Given the description of an element on the screen output the (x, y) to click on. 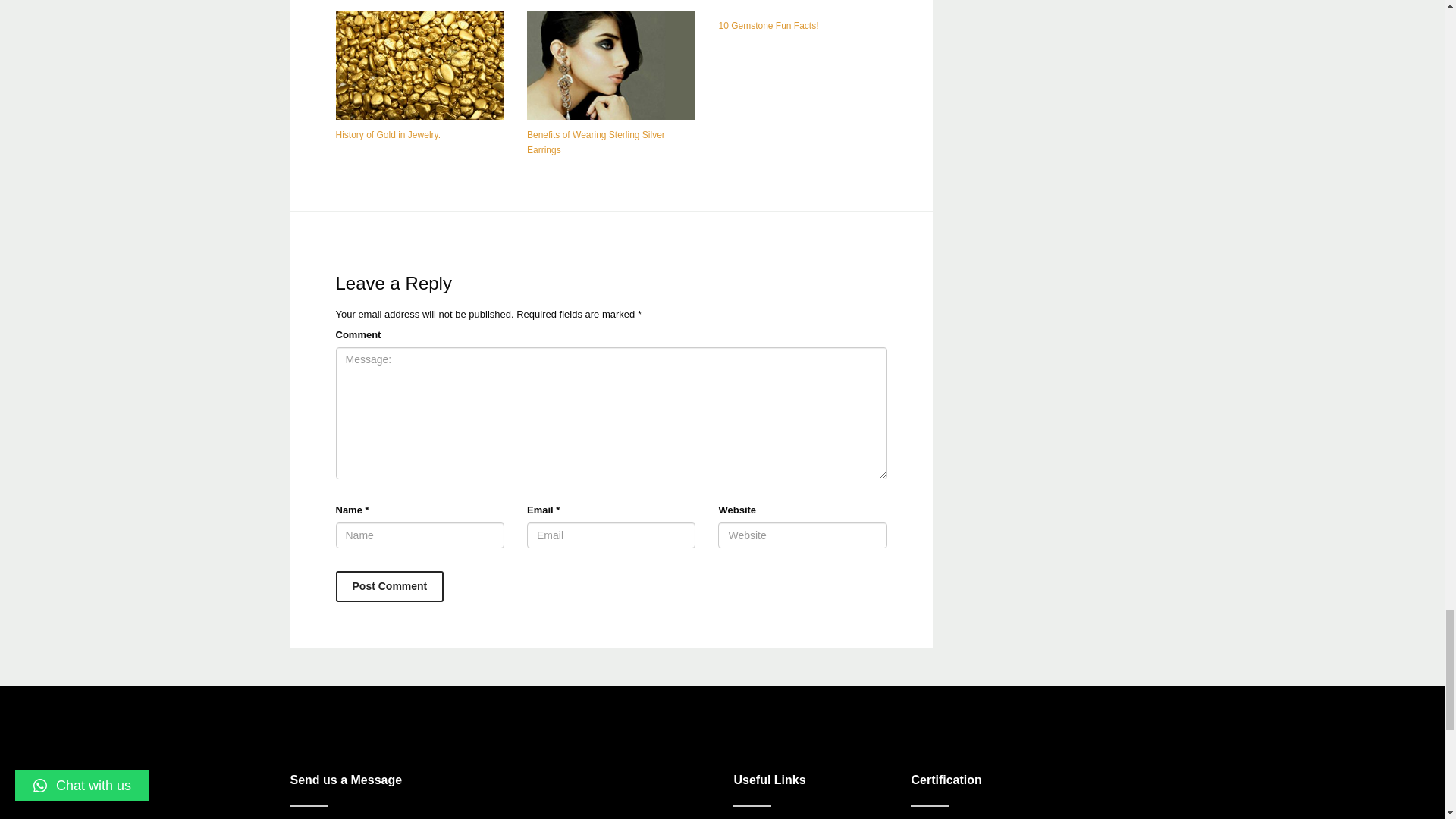
Post Comment (389, 585)
History of Gold in Jewelry. (387, 134)
Benefits of Wearing Sterling Silver Earrings (596, 142)
Capturefg copy (611, 64)
